Given the description of an element on the screen output the (x, y) to click on. 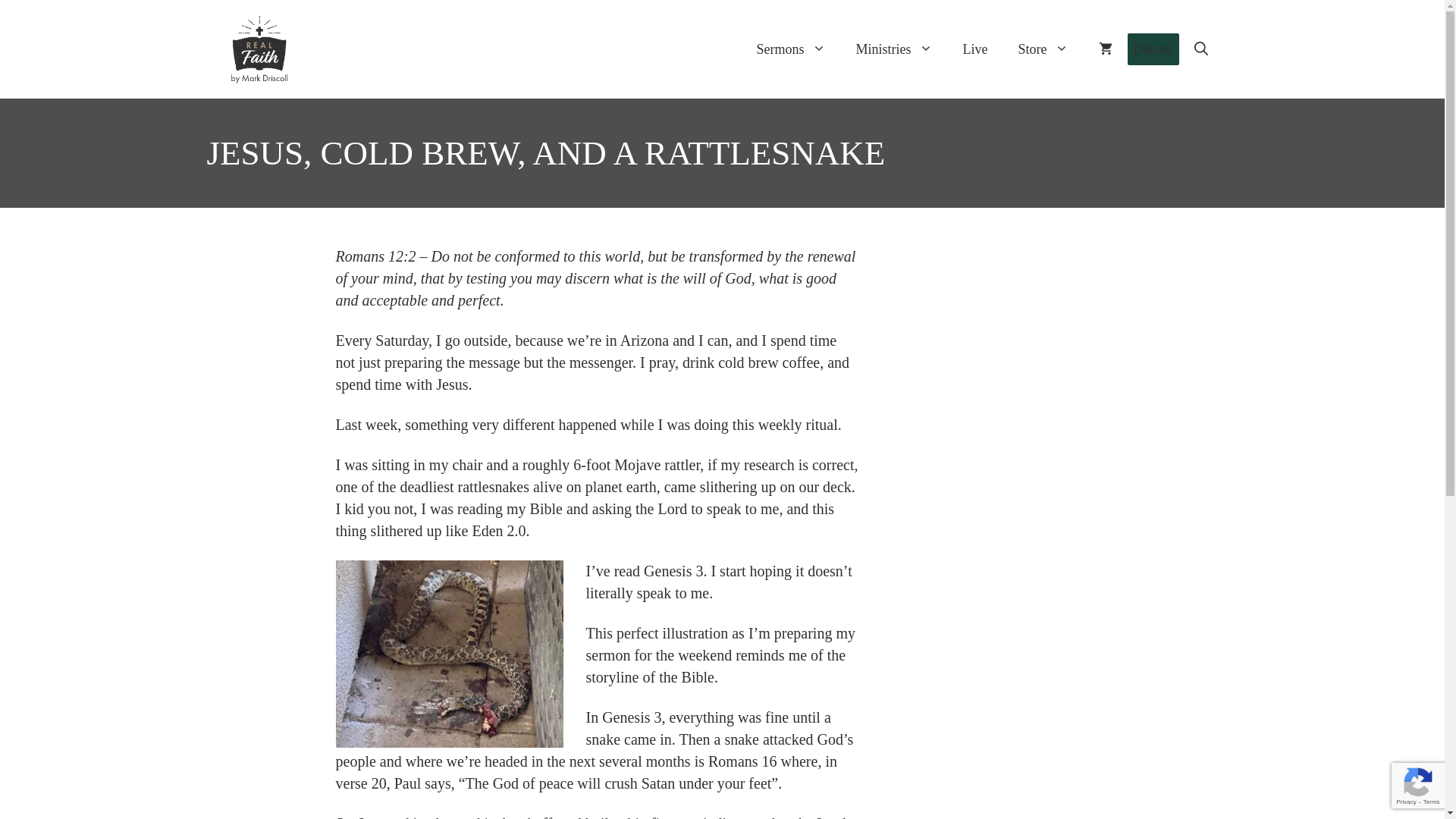
Store (1043, 49)
View your shopping cart (1104, 49)
Live (975, 49)
Donate (1152, 49)
Ministries (893, 49)
Sermons (791, 49)
